Given the description of an element on the screen output the (x, y) to click on. 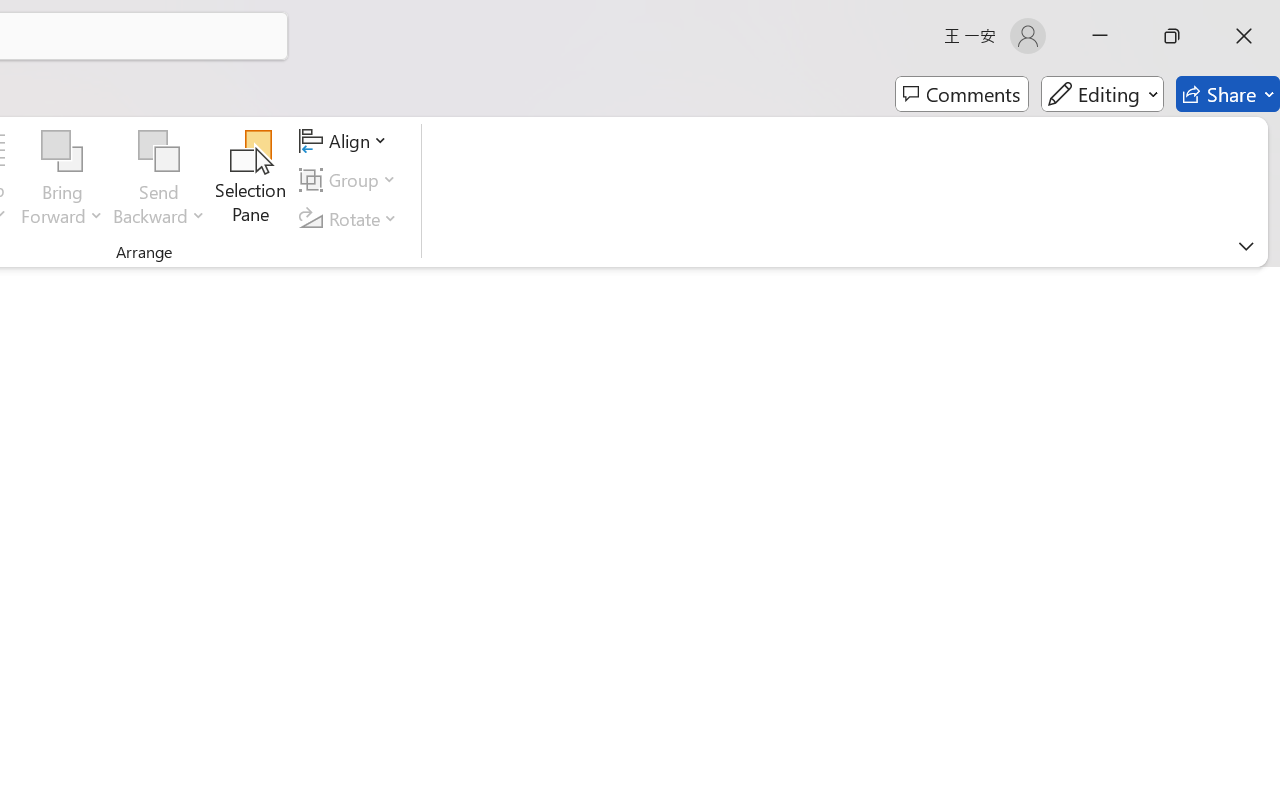
Comments (961, 94)
Share (1228, 94)
